Given the description of an element on the screen output the (x, y) to click on. 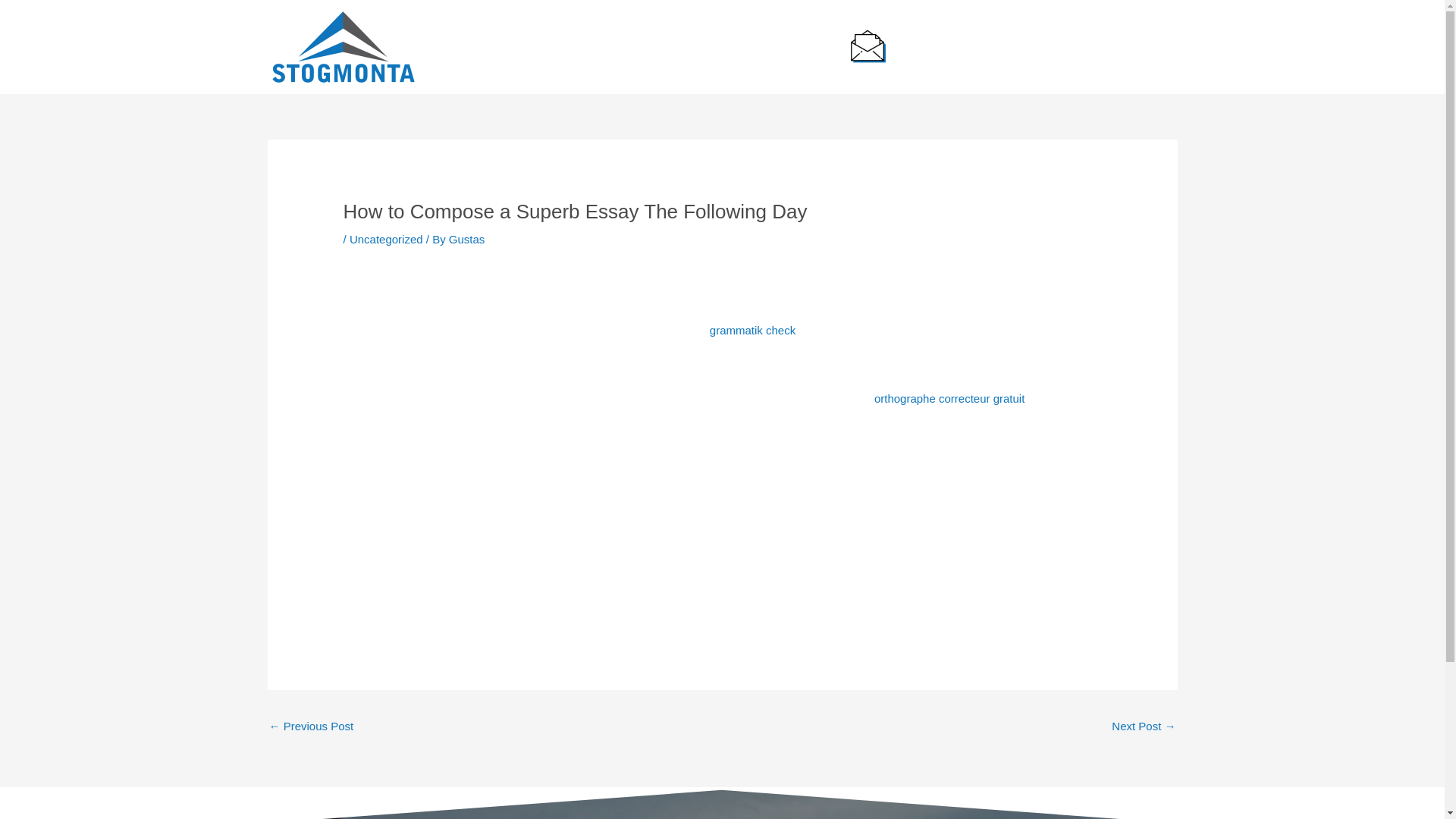
View all posts by Gustas (466, 238)
Uncategorized (386, 238)
KONTAKTAI (788, 46)
APIE MUS (606, 46)
orthographe correcteur gratuit (950, 398)
PAGRINDINIS (519, 46)
Why You Need to Use a Reliable Resources (310, 727)
Gustas (466, 238)
grammatik check (752, 329)
